Given the description of an element on the screen output the (x, y) to click on. 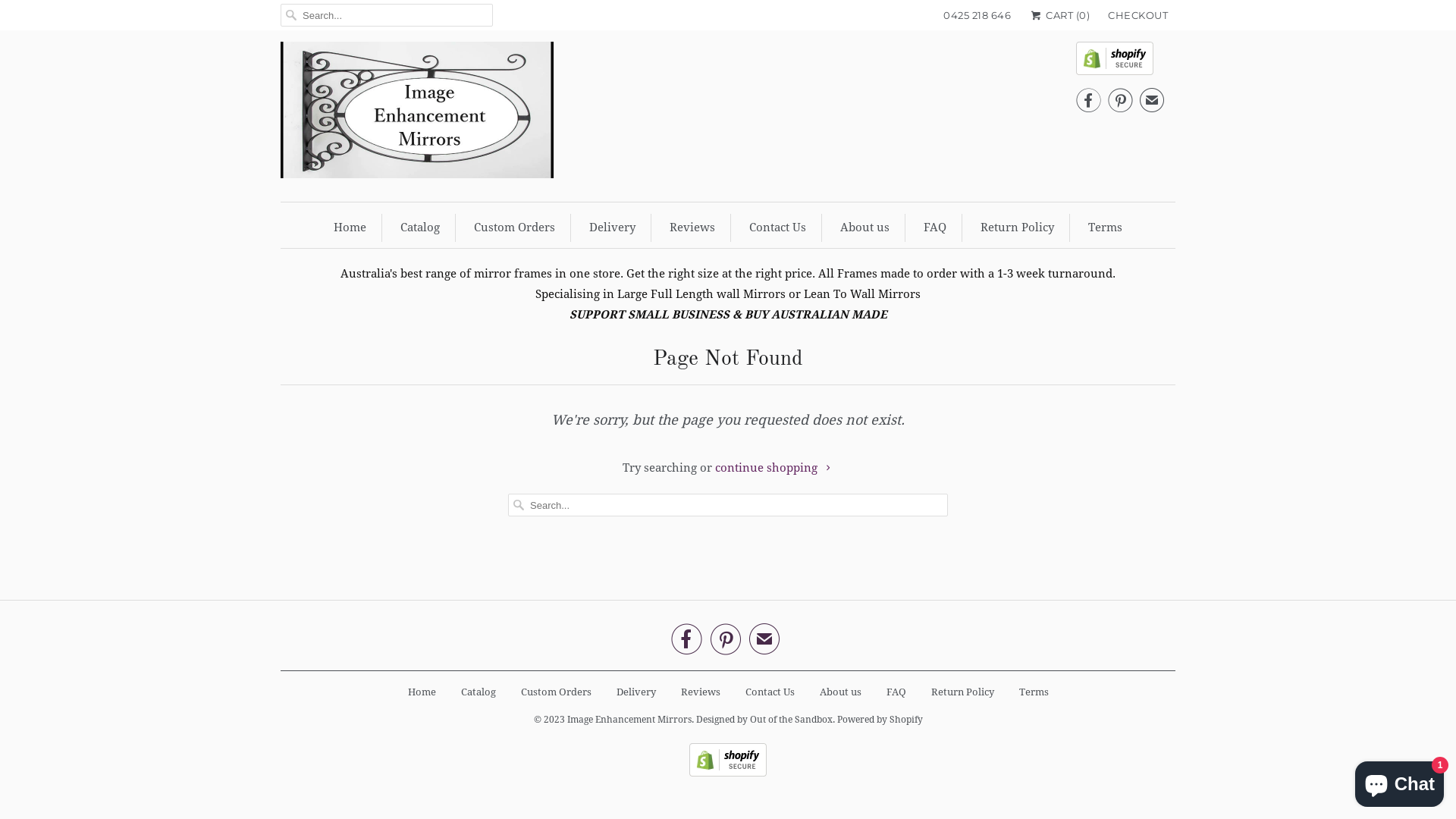
Terms Element type: text (1033, 691)
Return Policy Element type: text (962, 691)
continue shopping Element type: text (773, 467)
FAQ Element type: text (895, 691)
Delivery Element type: text (612, 227)
Contact Us Element type: text (777, 227)
Image Enhancement Mirrors Element type: hover (416, 113)
CHECKOUT Element type: text (1137, 14)
About us Element type: text (864, 227)
Terms Element type: text (1105, 227)
Image Enhancement Mirrors Element type: text (629, 714)
Shopify online store chat Element type: hover (1399, 780)
Custom Orders Element type: text (514, 227)
Home Element type: text (421, 691)
CART (0) Element type: text (1059, 14)
Powered by Shopify Element type: text (879, 714)
0425 218 646 Element type: text (976, 14)
Contact Us Element type: text (768, 691)
Custom Orders Element type: text (555, 691)
Delivery Element type: text (635, 691)
This online store is secured by Shopify Element type: hover (727, 772)
Home Element type: text (349, 227)
Catalog Element type: text (419, 227)
Return Policy Element type: text (1017, 227)
Reviews Element type: text (700, 691)
FAQ Element type: text (934, 227)
This online store is secured by Shopify Element type: hover (1120, 62)
About us Element type: text (839, 691)
Catalog Element type: text (478, 691)
Reviews Element type: text (692, 227)
Designed by Out of the Sandbox Element type: text (764, 714)
